Given the description of an element on the screen output the (x, y) to click on. 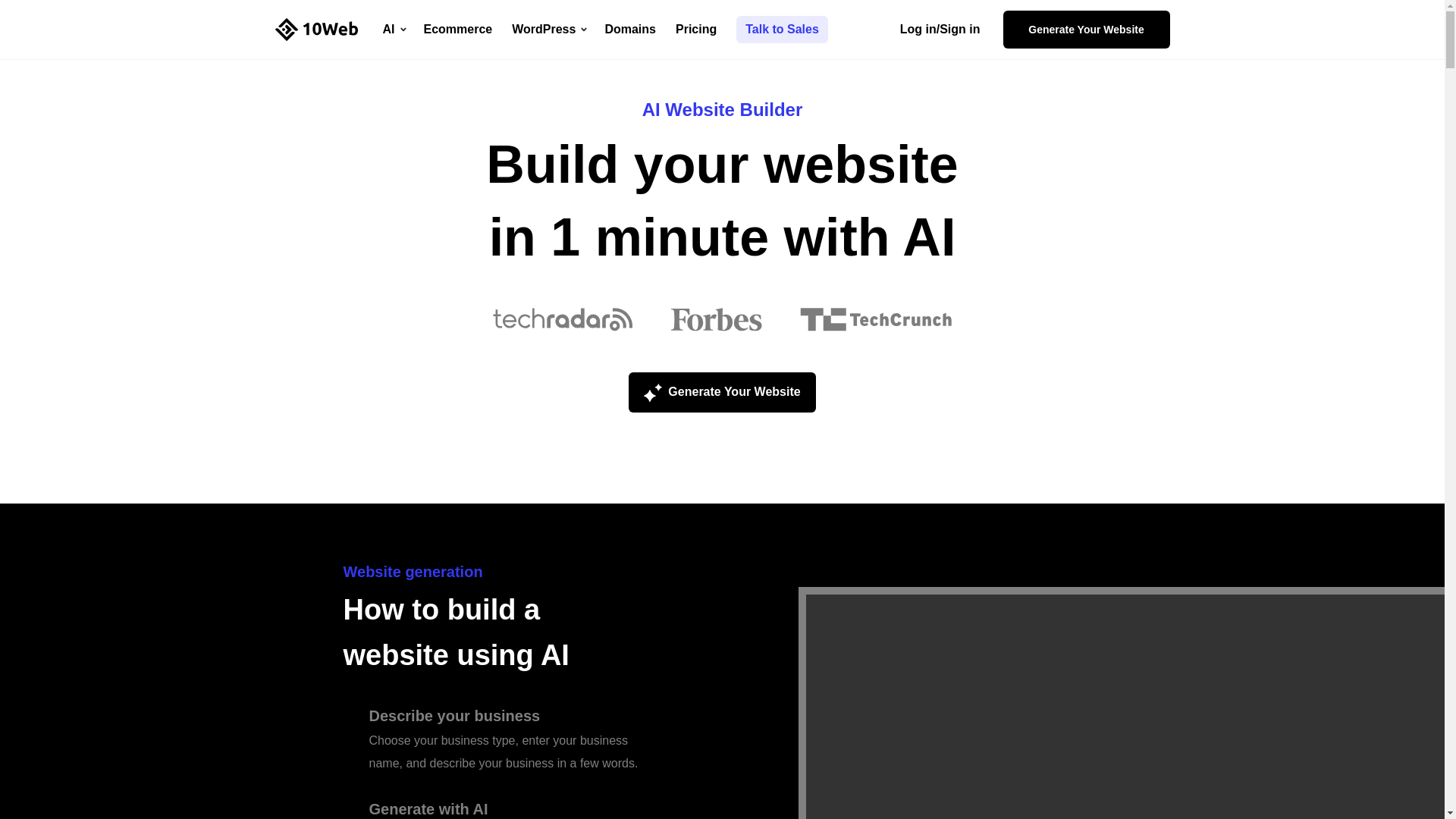
AI (402, 29)
WordPress (558, 29)
Domains (639, 29)
Ecommerce (467, 29)
